Given the description of an element on the screen output the (x, y) to click on. 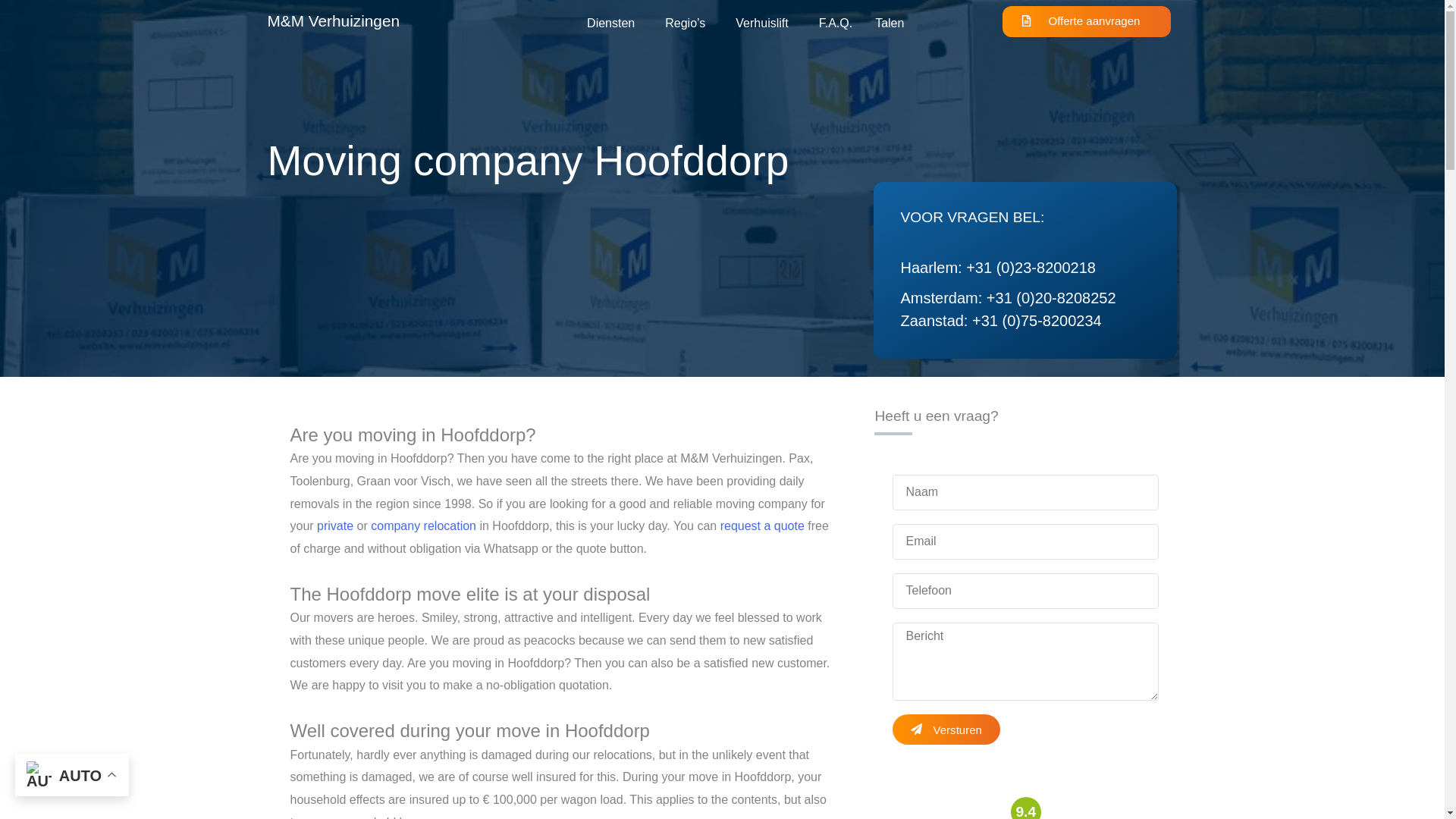
private (335, 525)
F.A.Q. (835, 22)
request a quote (762, 525)
Offerte aanvragen (1087, 20)
Diensten (614, 22)
Versturen (945, 729)
Verhuislift (764, 22)
Talen (889, 22)
company relocation (423, 525)
